Given the description of an element on the screen output the (x, y) to click on. 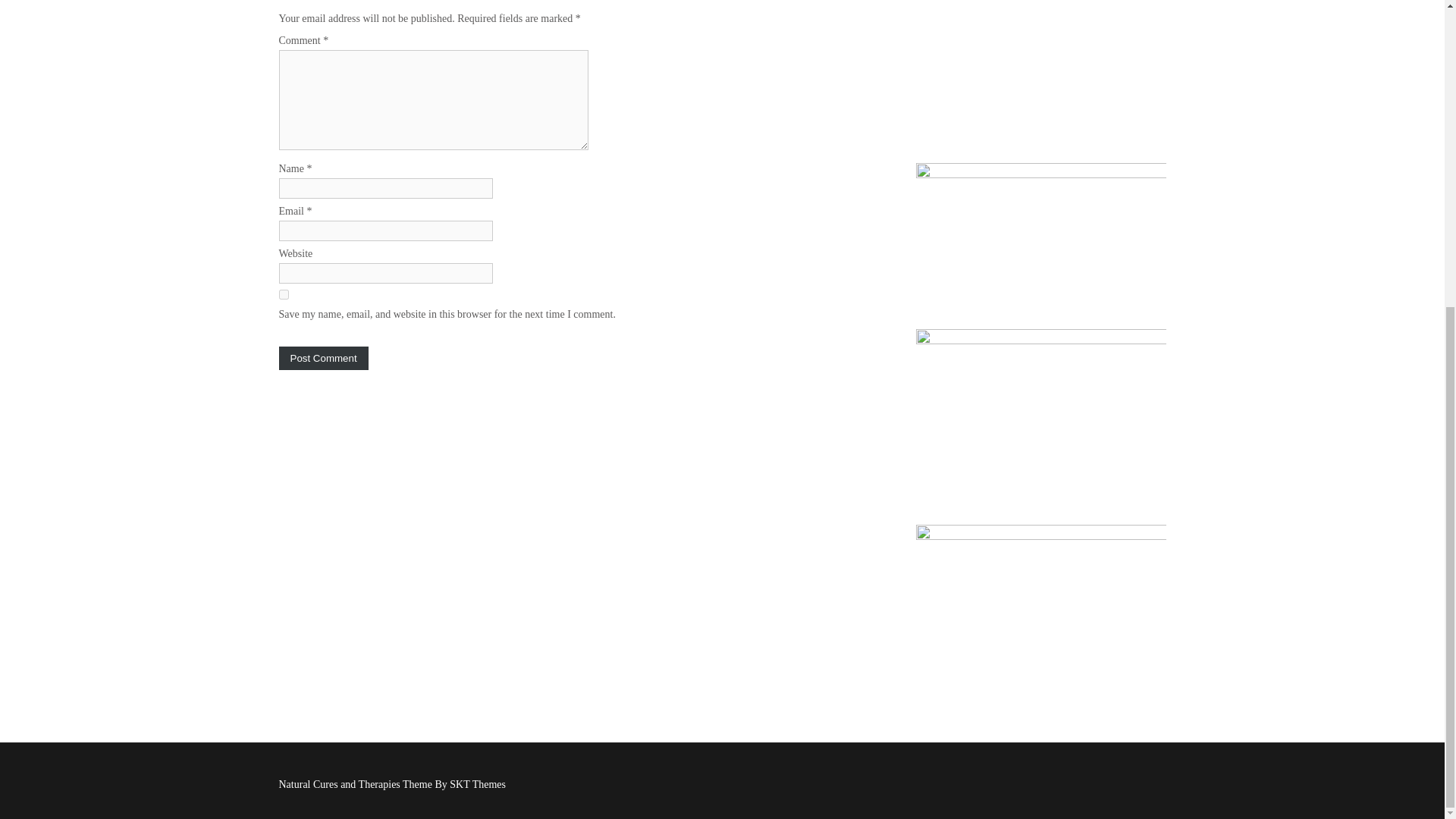
Post Comment (323, 357)
Post Comment (323, 357)
yes (283, 294)
